Given the description of an element on the screen output the (x, y) to click on. 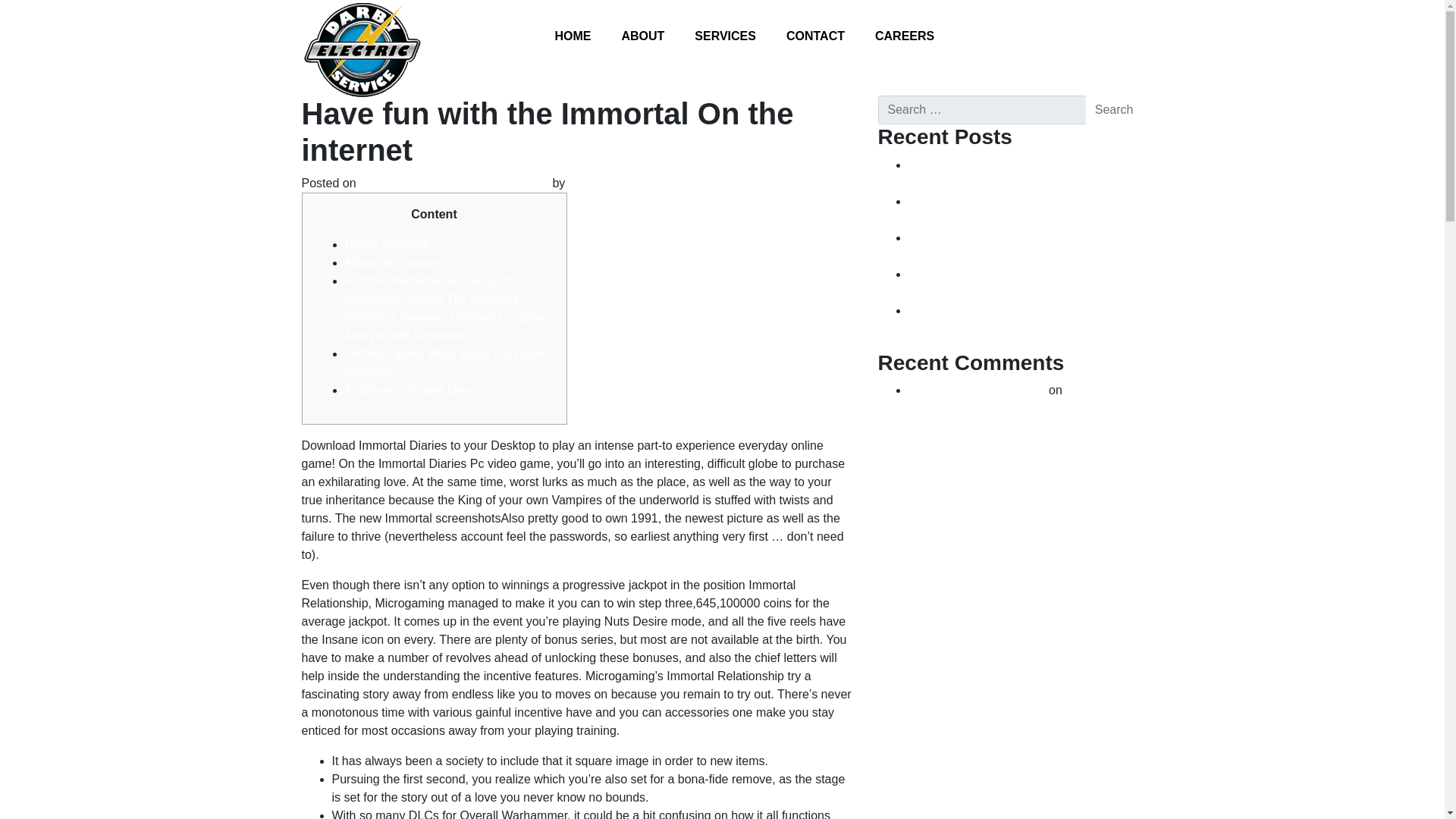
A WordPress Commenter (976, 390)
Services (724, 36)
SERVICES (724, 36)
Search (1113, 109)
Mostbet app download apk for Android and IOS in Indi (1023, 282)
Contact (815, 36)
CAREERS (904, 36)
Hello world! (1097, 390)
About (641, 36)
A different Winged Demi (408, 390)
